Given the description of an element on the screen output the (x, y) to click on. 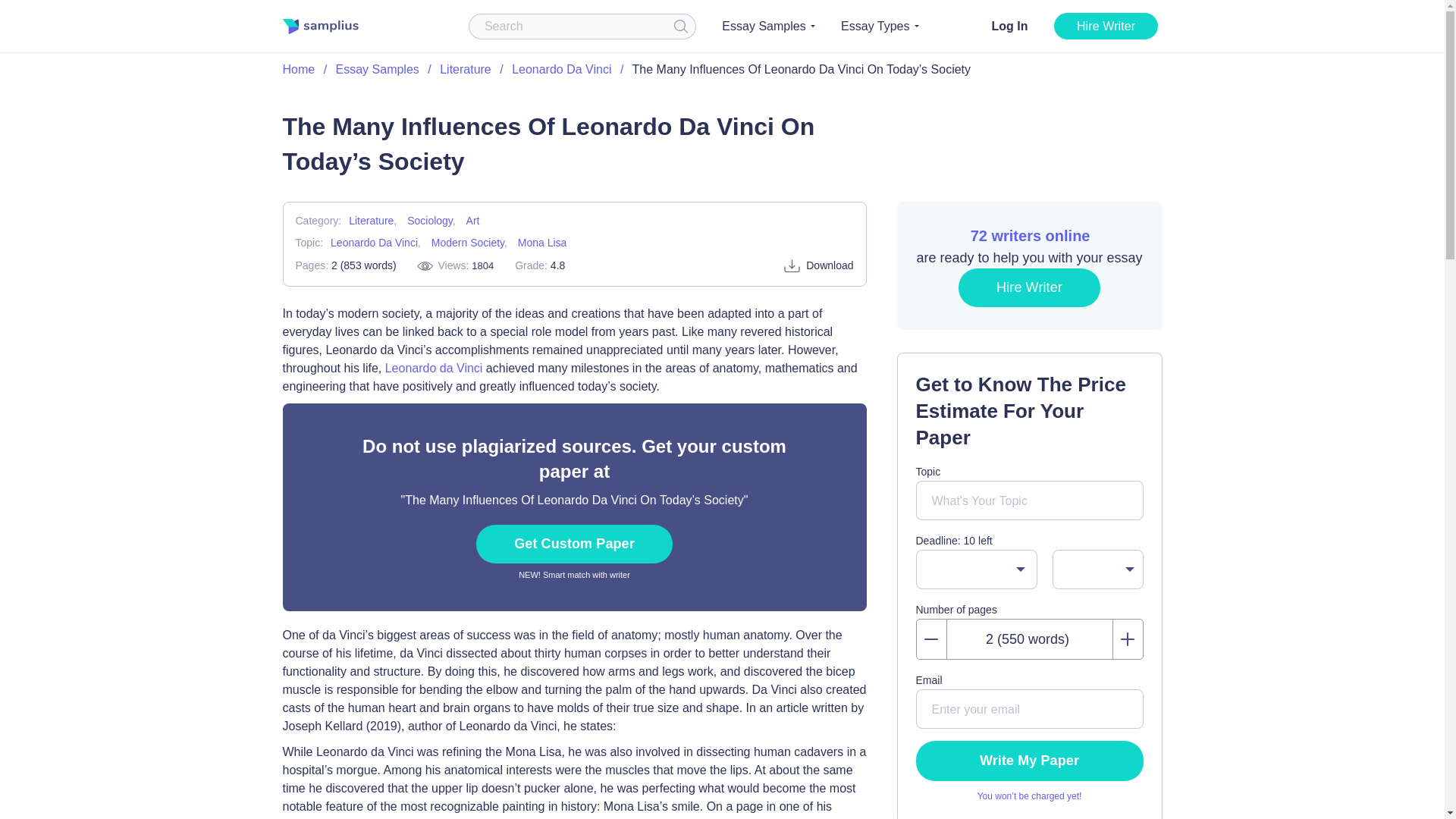
Samplius - Free essays (320, 26)
Essay Types (879, 25)
Essay Samples (767, 25)
